Given the description of an element on the screen output the (x, y) to click on. 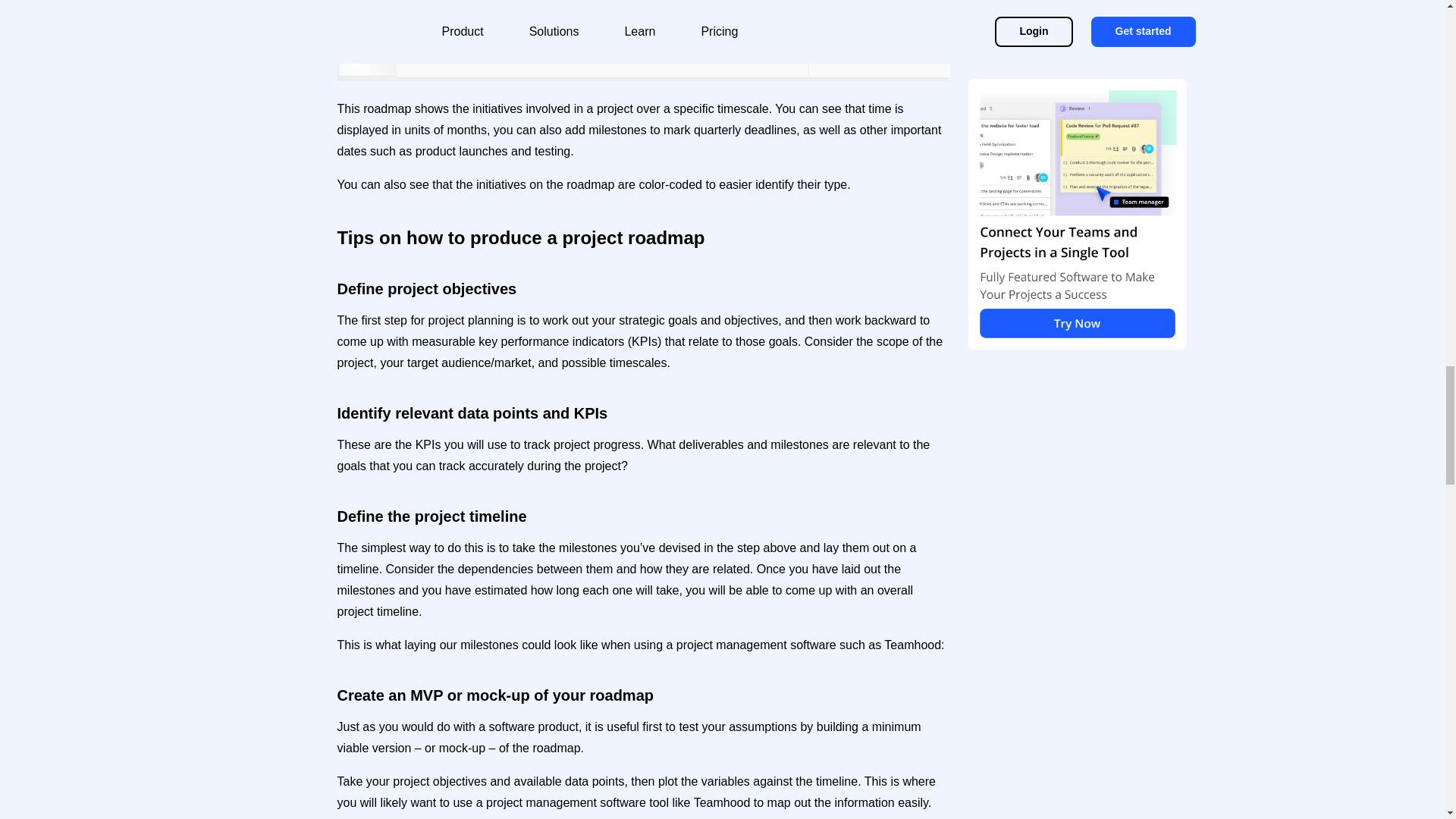
How to Create a Project Roadmap: Tips and Examples 3 (642, 40)
